Given the description of an element on the screen output the (x, y) to click on. 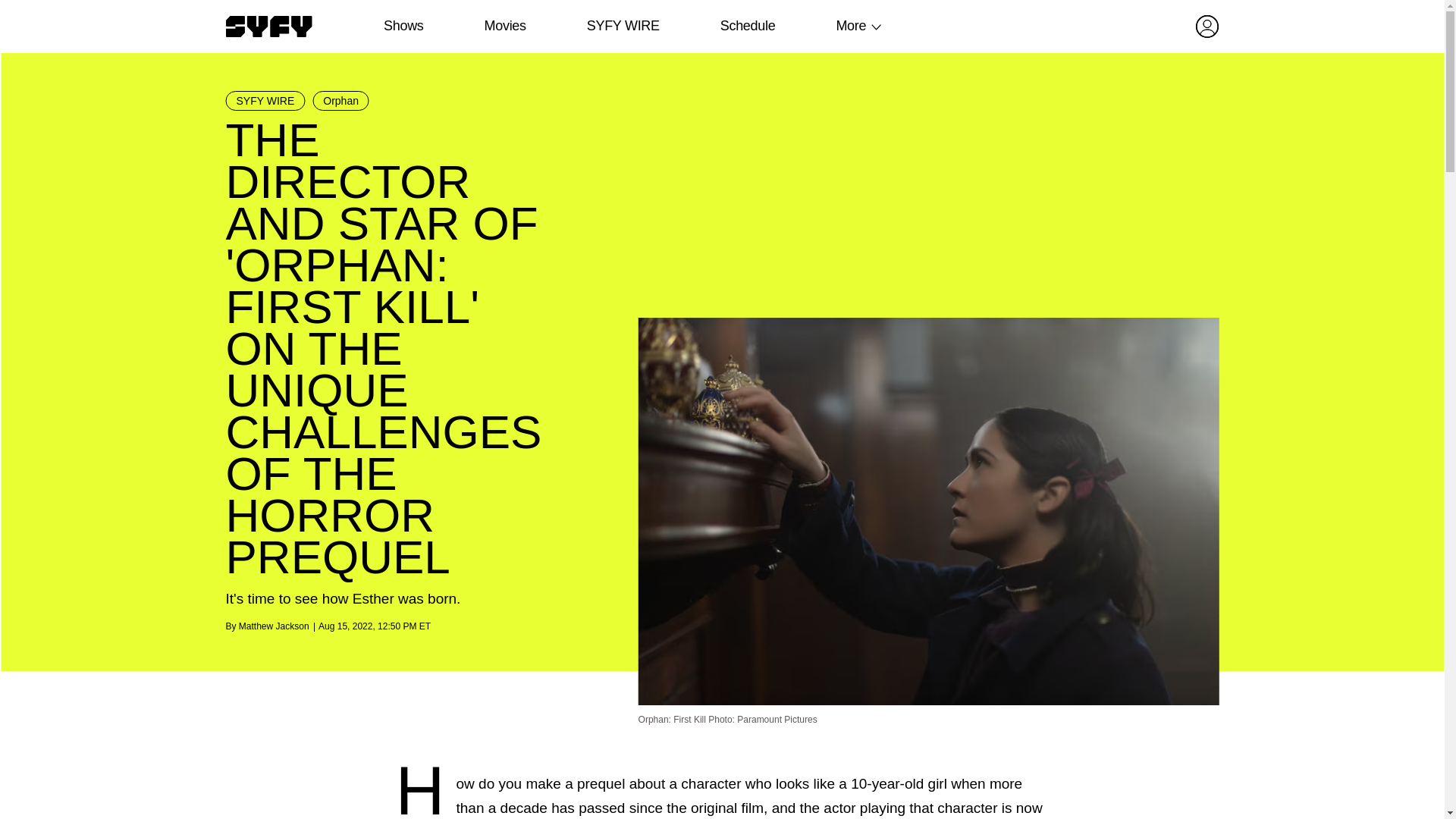
Orphan (341, 100)
More (850, 26)
Movies (504, 26)
SYFY WIRE (622, 26)
Shows (403, 26)
Matthew Jackson (273, 625)
SYFY WIRE (265, 100)
Schedule (746, 26)
